Given the description of an element on the screen output the (x, y) to click on. 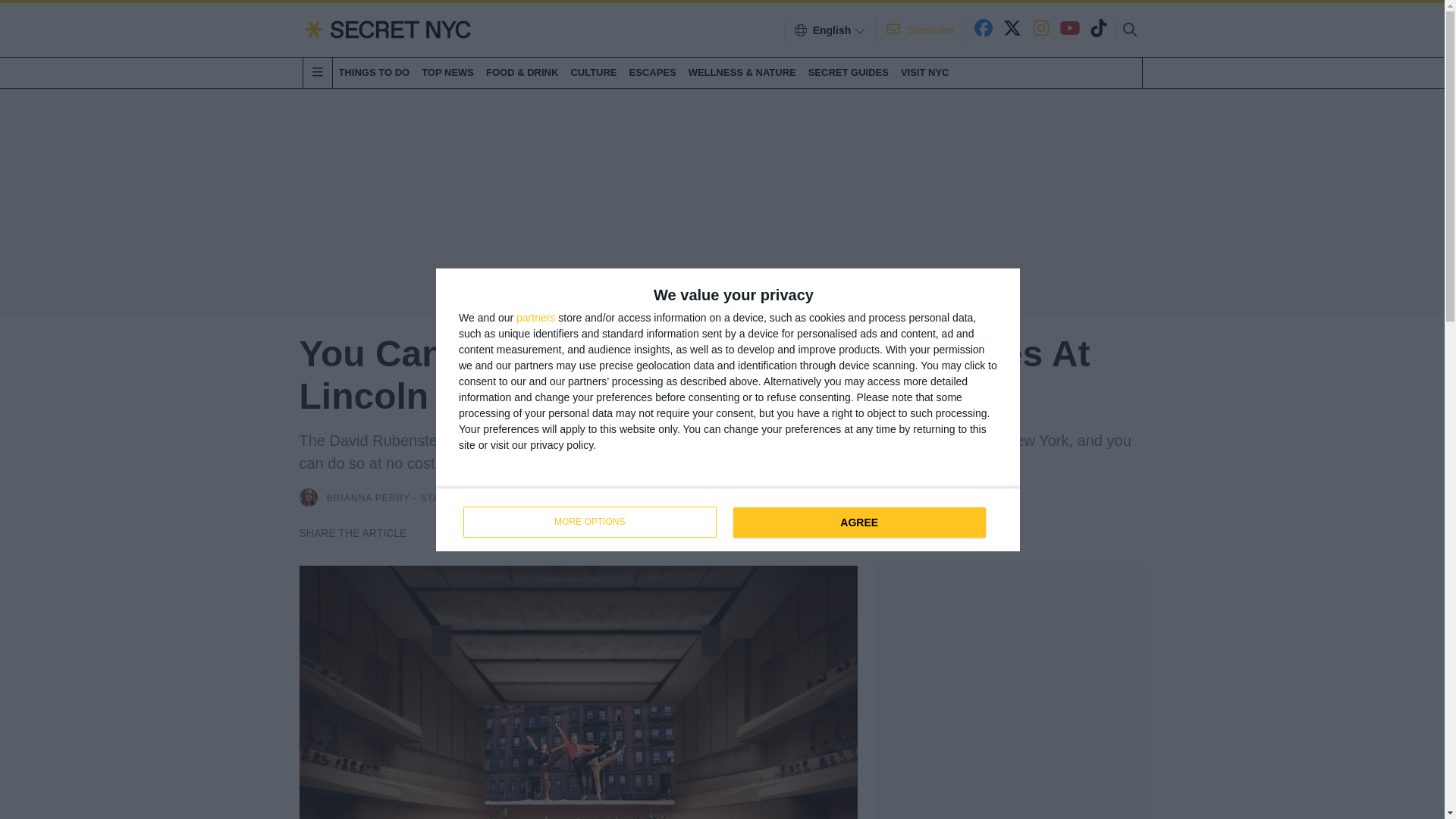
CULTURE (592, 72)
ESCAPES (652, 72)
SECRET GUIDES (848, 72)
partners (535, 317)
VISIT NYC (925, 72)
English (831, 29)
AGREE (858, 521)
MORE OPTIONS (589, 521)
THINGS TO DO (727, 518)
BRIANNA PERRY (373, 72)
TOP NEWS (368, 498)
